Given the description of an element on the screen output the (x, y) to click on. 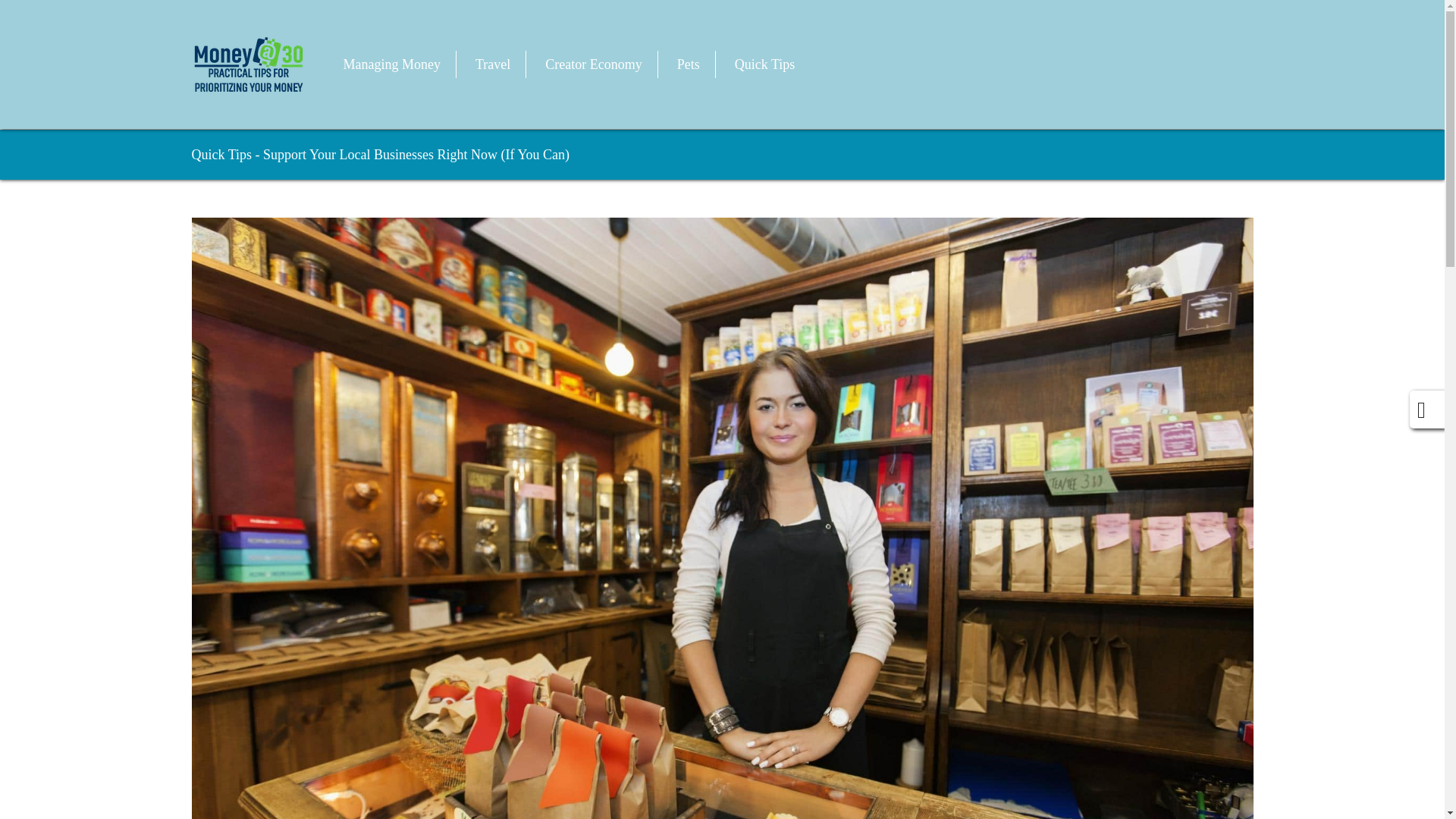
Navigate to the home page (247, 64)
Quick Tips (764, 64)
Travel (493, 64)
Creator Economy (593, 64)
Quick Tips (220, 154)
Managing Money (390, 64)
